Given the description of an element on the screen output the (x, y) to click on. 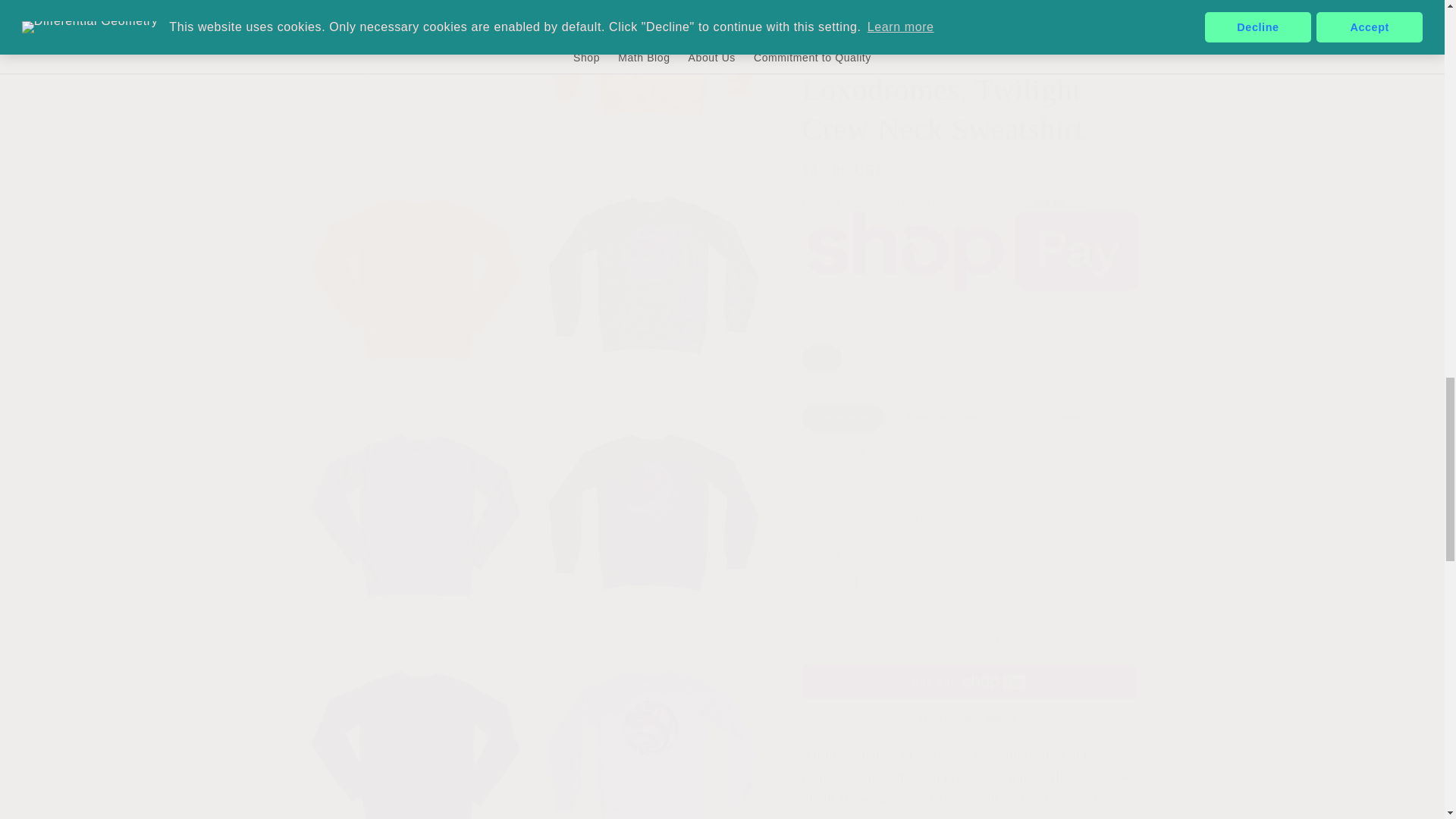
Open media 12 in modal (415, 262)
Open media 15 in modal (652, 499)
Open media 16 in modal (415, 722)
Open media 11 in modal (652, 68)
Open media 17 in modal (652, 722)
Open media 10 in modal (415, 68)
Open media 13 in modal (652, 262)
Open media 14 in modal (415, 499)
